Given the description of an element on the screen output the (x, y) to click on. 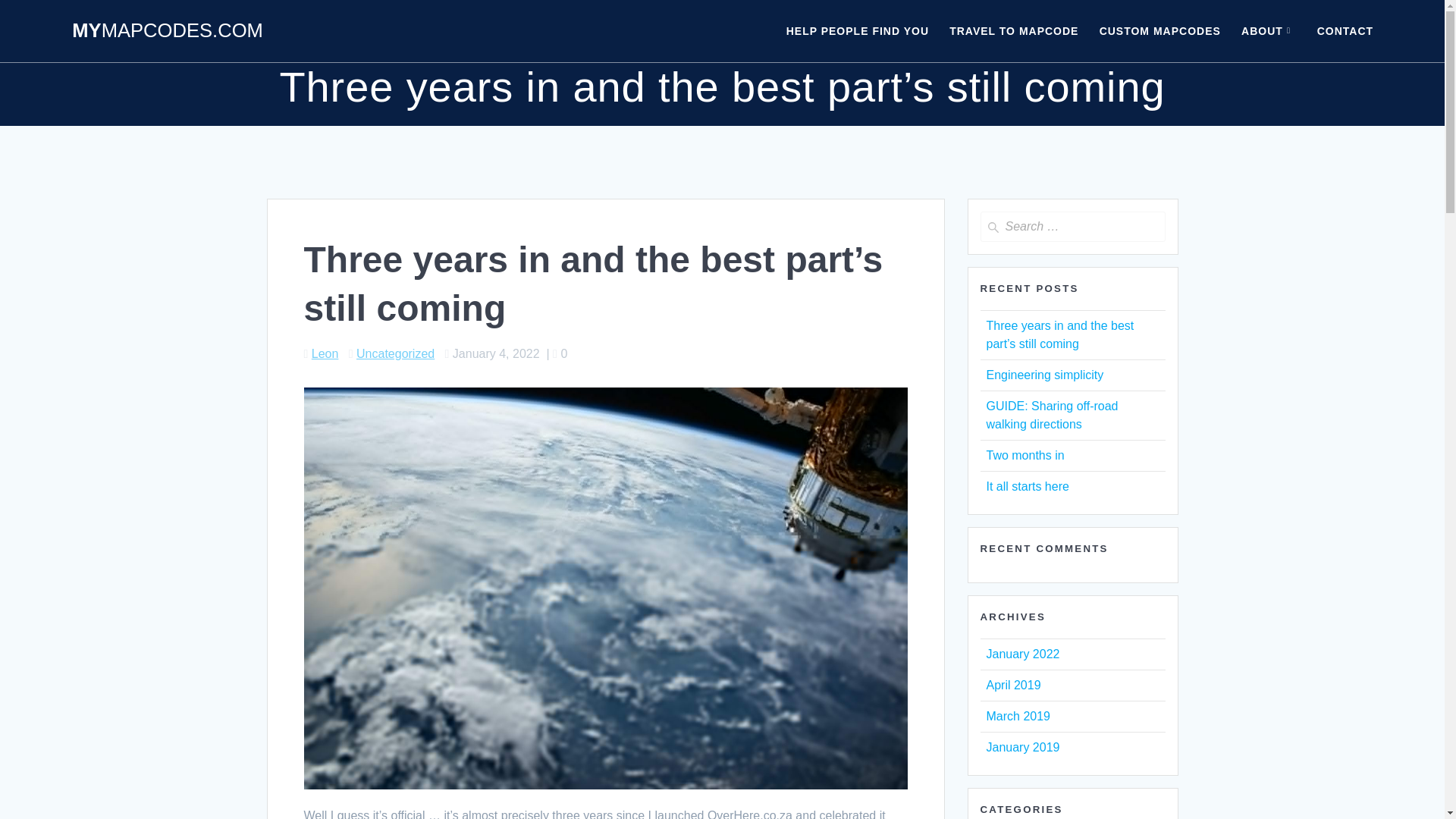
MYMAPCODES.COM (167, 30)
CUSTOM MAPCODES (1160, 30)
CONTACT (1345, 30)
Two months in (1024, 454)
HELP PEOPLE FIND YOU (857, 30)
Uncategorized (394, 353)
TRAVEL TO MAPCODE (1013, 30)
Posts by Leon (325, 353)
Engineering simplicity (1044, 374)
April 2019 (1013, 684)
It all starts here (1026, 486)
ABOUT (1269, 30)
GUIDE: Sharing off-road walking directions (1051, 414)
January 2022 (1022, 653)
March 2019 (1017, 716)
